Given the description of an element on the screen output the (x, y) to click on. 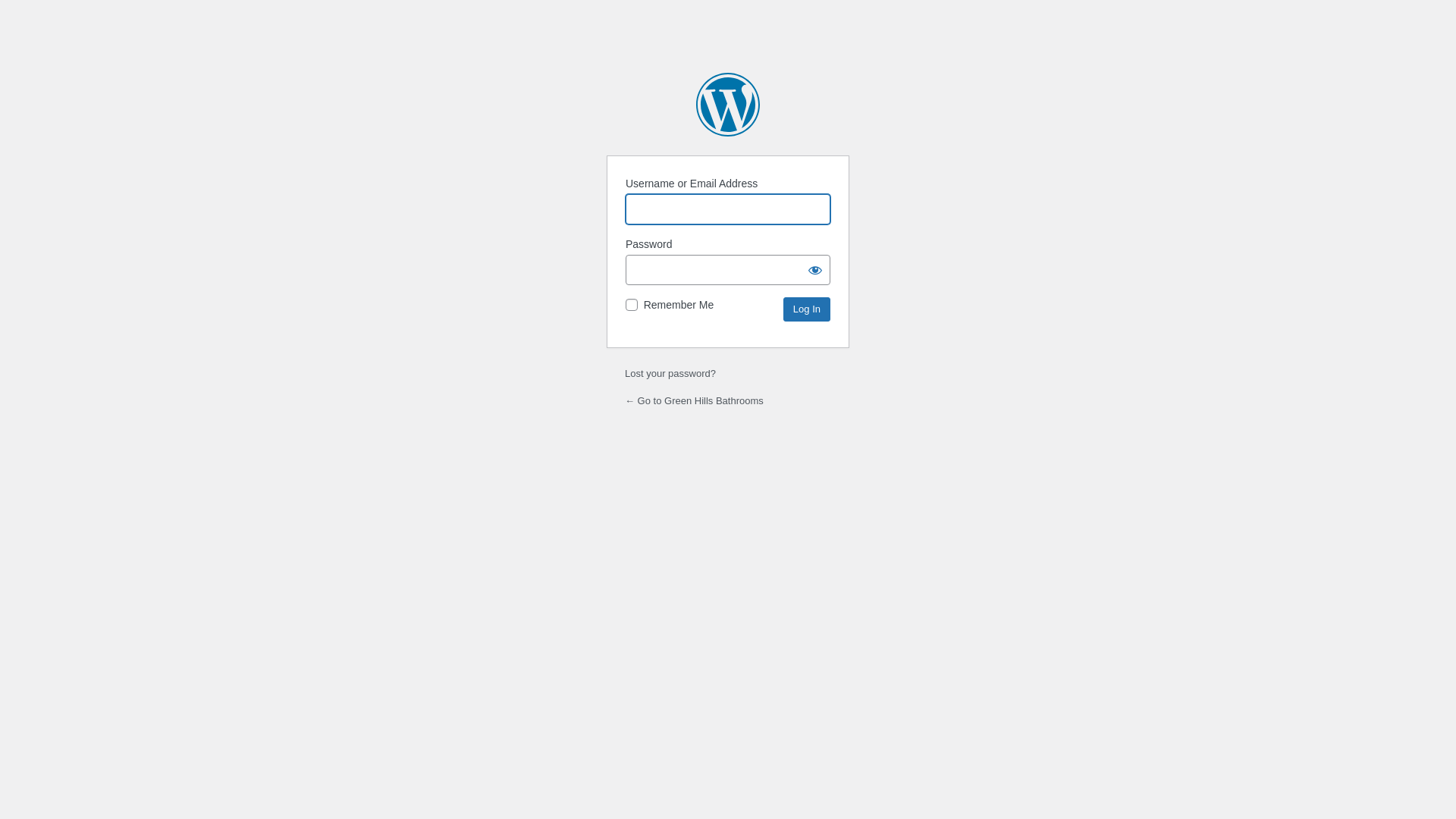
Powered by WordPress Element type: text (727, 104)
Lost your password? Element type: text (669, 373)
Log In Element type: text (806, 309)
